Given the description of an element on the screen output the (x, y) to click on. 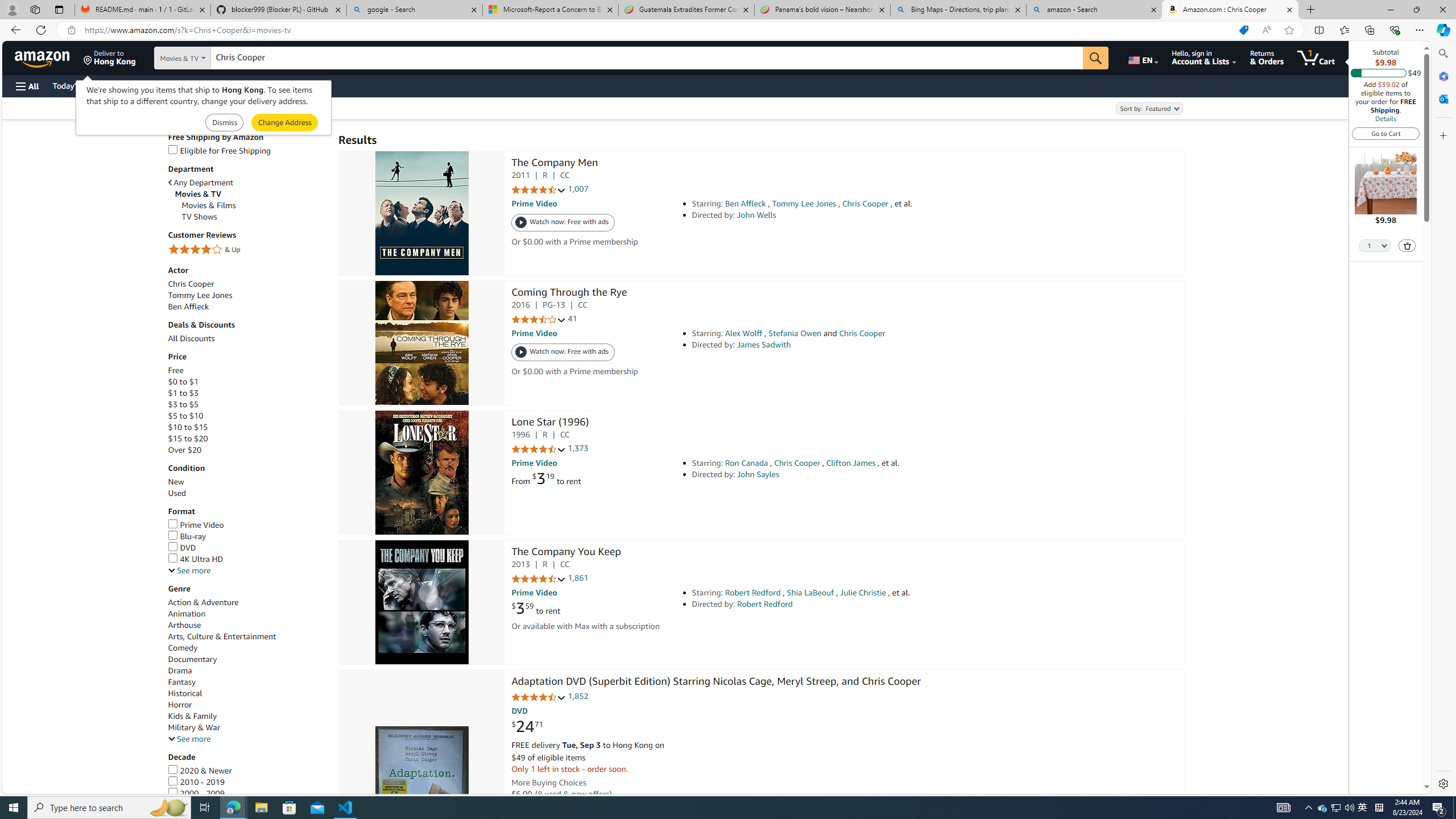
Used (176, 493)
Horror (179, 704)
4K Ultra HD (195, 559)
New (175, 481)
